Given the description of an element on the screen output the (x, y) to click on. 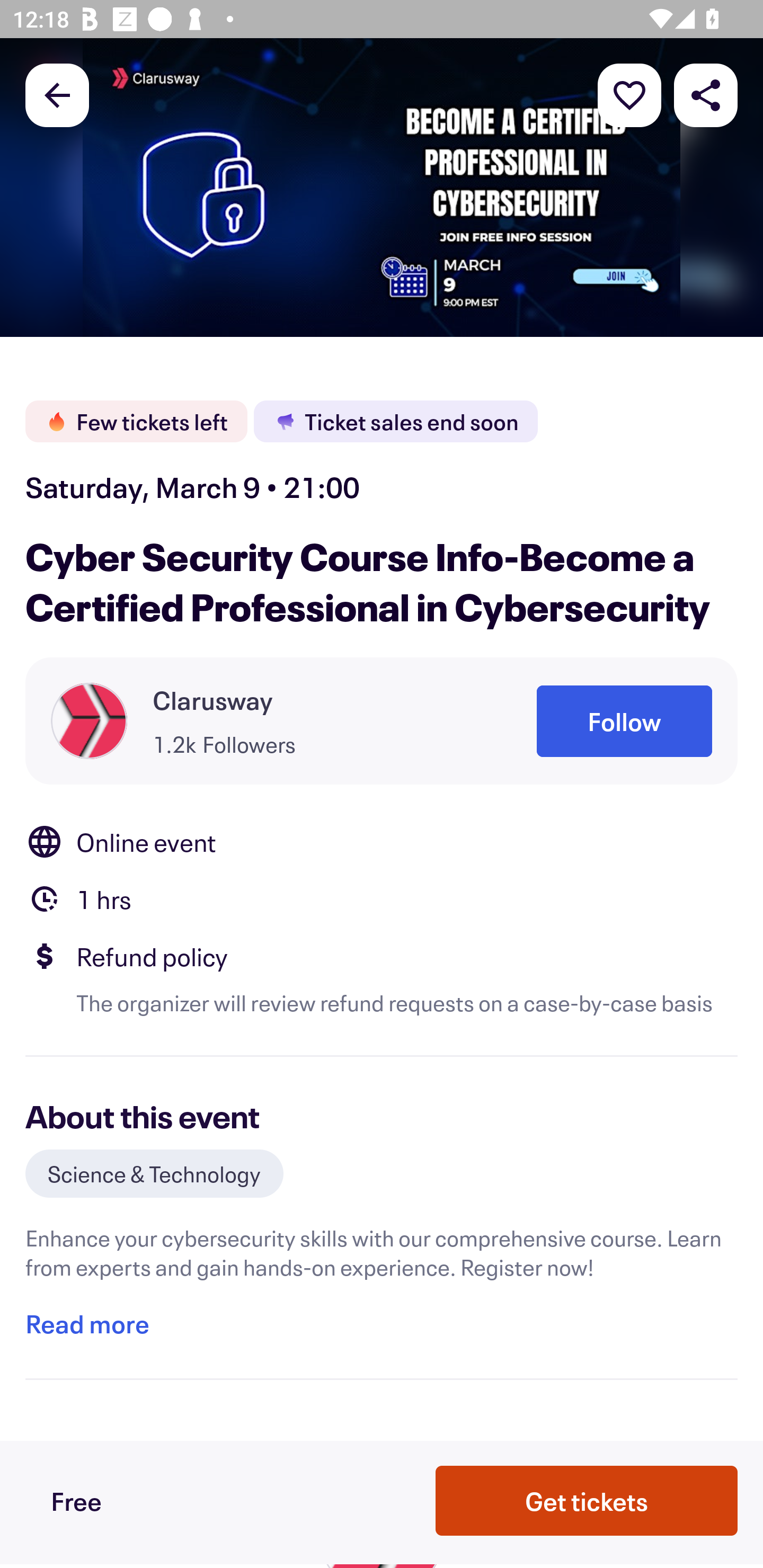
Back (57, 94)
More (629, 94)
Share (705, 94)
Clarusway (212, 699)
Organizer profile picture (89, 720)
Follow (623, 720)
Location Online event (381, 840)
Read more (87, 1323)
